Given the description of an element on the screen output the (x, y) to click on. 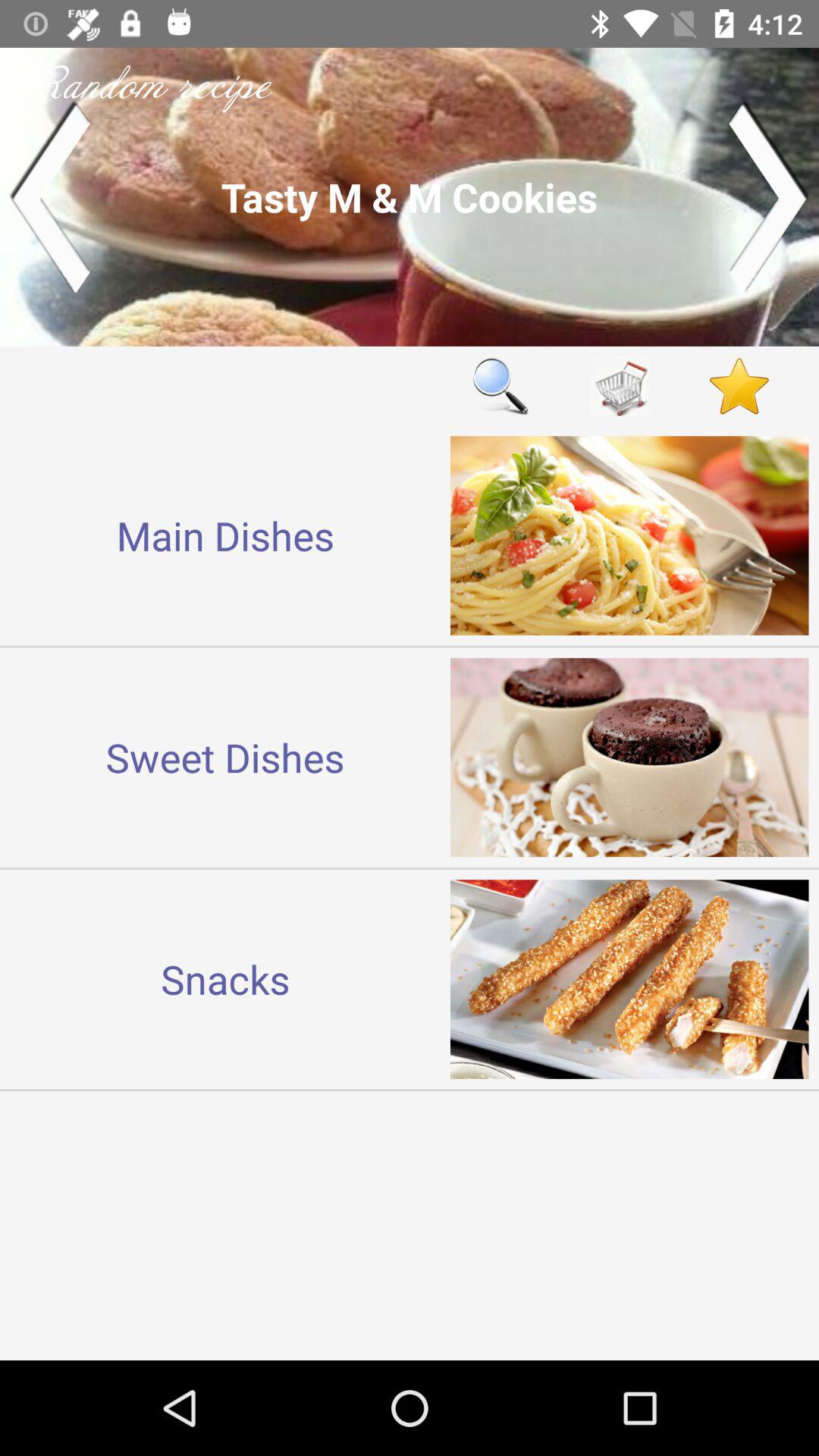
click the main dishes item (225, 534)
